Given the description of an element on the screen output the (x, y) to click on. 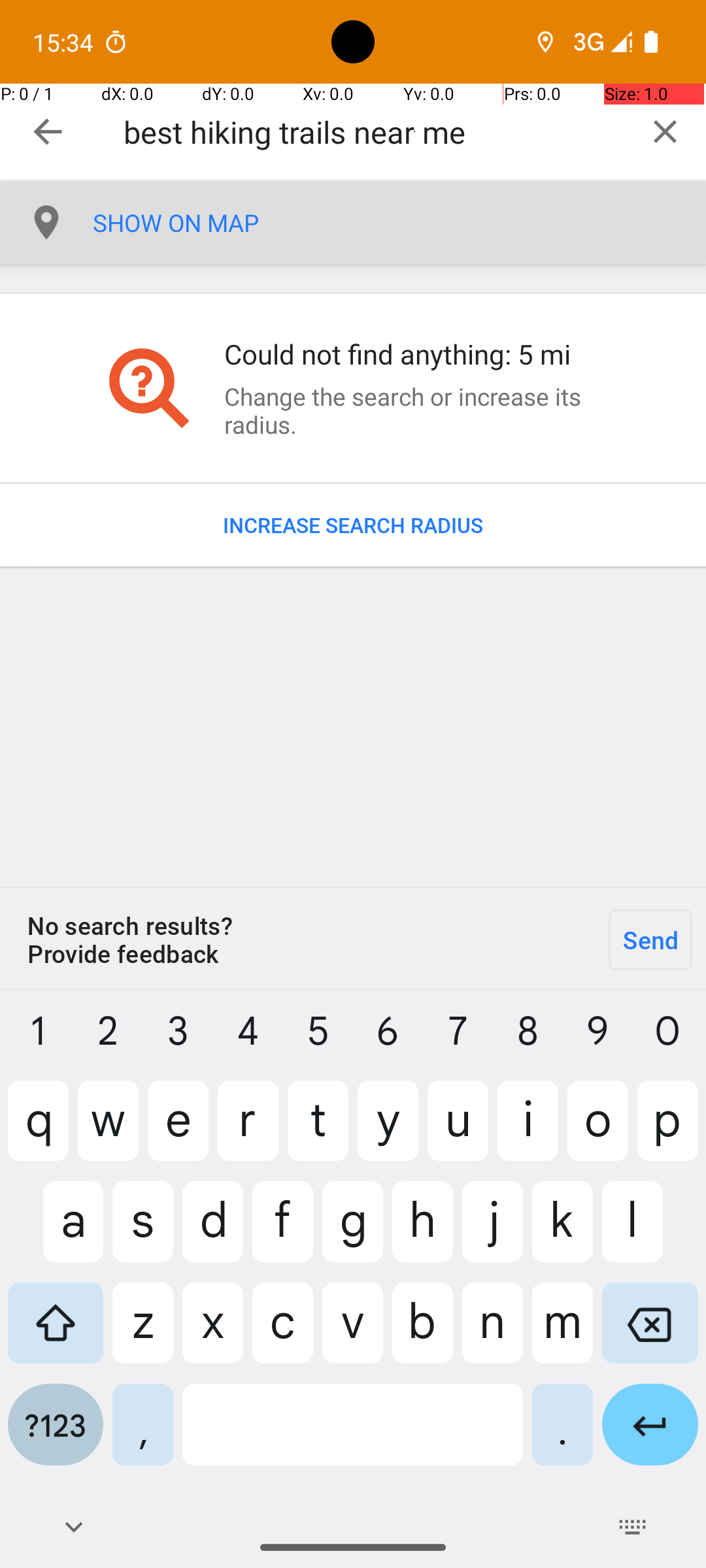
No search results?
Provide feedback Element type: android.widget.TextView (297, 939)
best hiking trails near me Element type: android.widget.EditText (373, 131)
SHOW ON MAP Element type: android.widget.TextView (399, 222)
Could not find anything: 5 mi Element type: android.widget.TextView (414, 353)
Change the search or increase its radius. Element type: android.widget.TextView (414, 410)
INCREASE SEARCH RADIUS Element type: android.widget.TextView (352, 524)
